Given the description of an element on the screen output the (x, y) to click on. 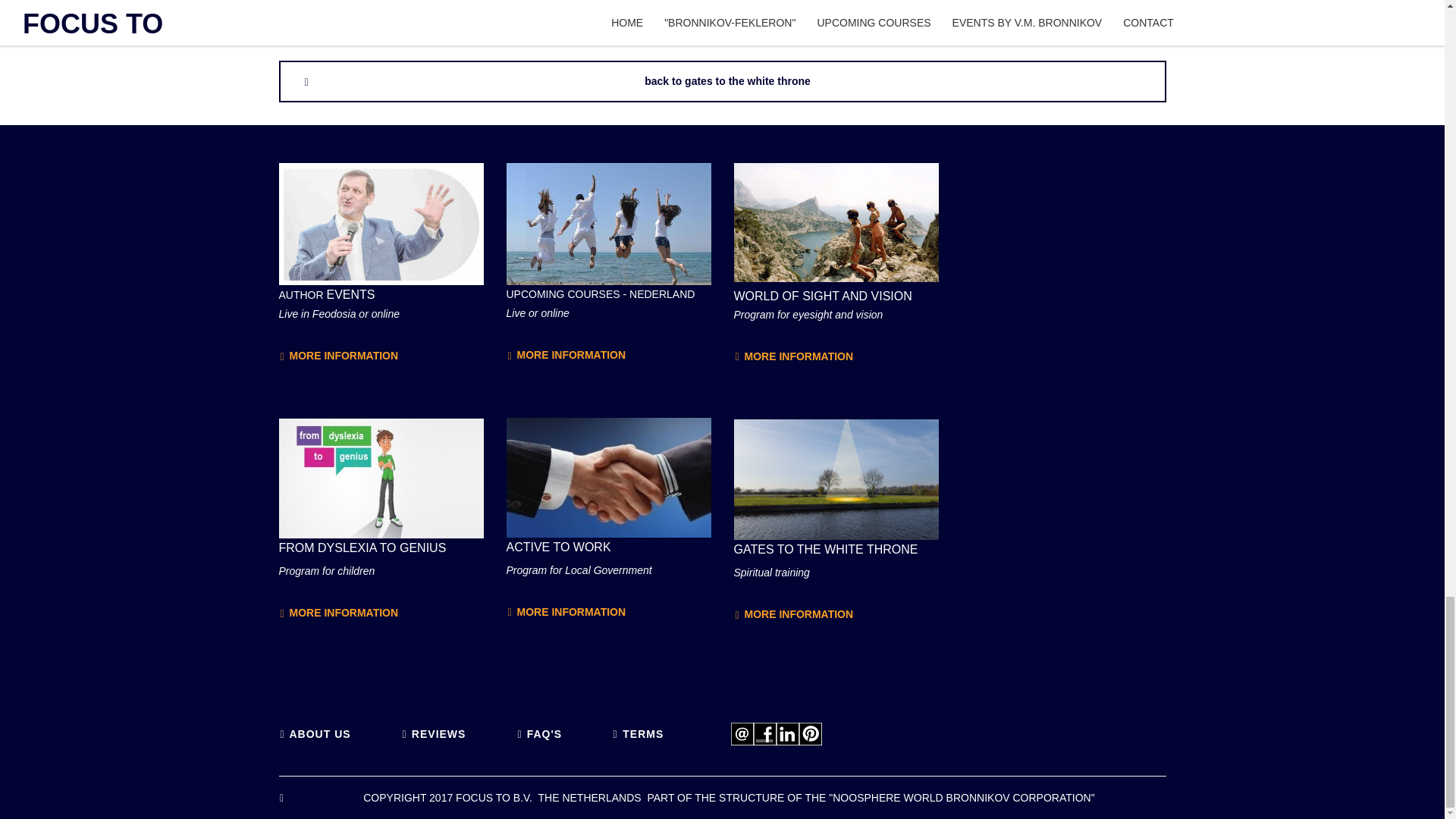
TERMS (643, 734)
UPCOMING COURSES (608, 223)
ABOUT US (319, 734)
FAQ'S (544, 734)
From Dyslexia to Genius (381, 478)
Events by V.M. Bronnikov (381, 223)
Gates To The White Throne (836, 479)
REVIEWS (438, 734)
ACTIVE TO WORK (608, 477)
